Given the description of an element on the screen output the (x, y) to click on. 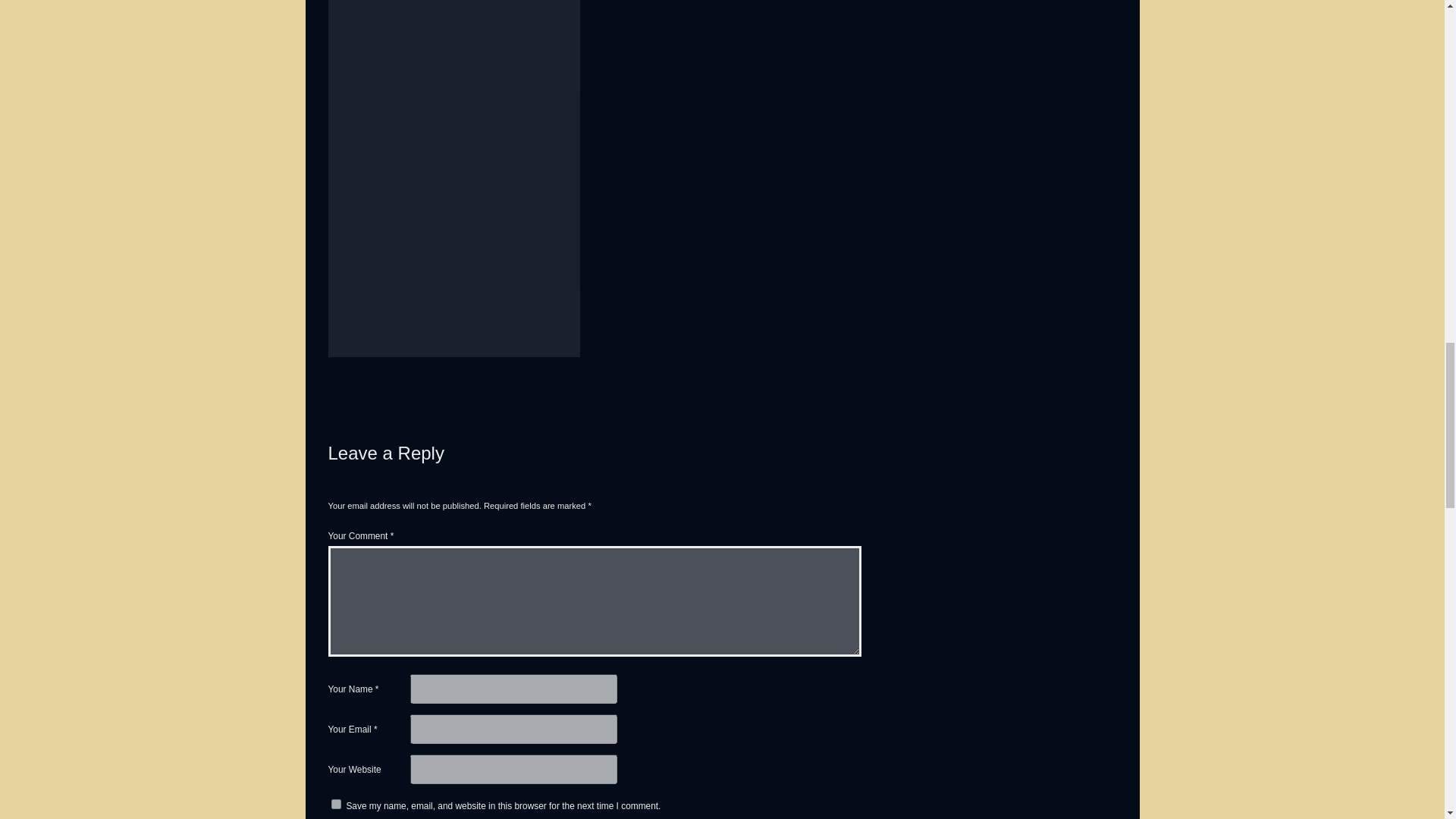
yes (335, 804)
